Given the description of an element on the screen output the (x, y) to click on. 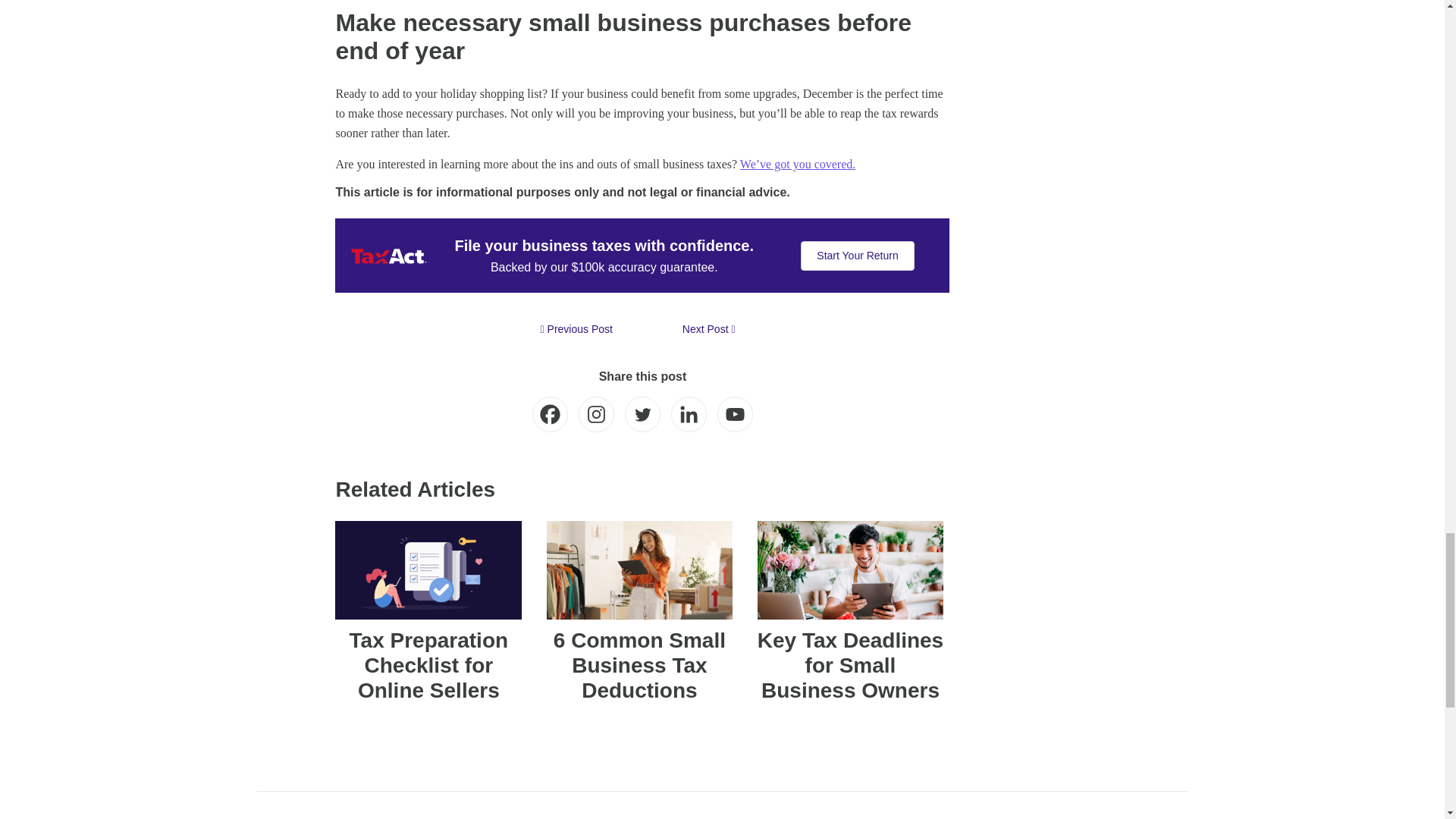
Facebook (550, 414)
Youtube (735, 414)
Start Your Return (857, 255)
Instagram (596, 414)
Linkedin (688, 414)
Previous Post (576, 328)
Twitter (642, 414)
